Given the description of an element on the screen output the (x, y) to click on. 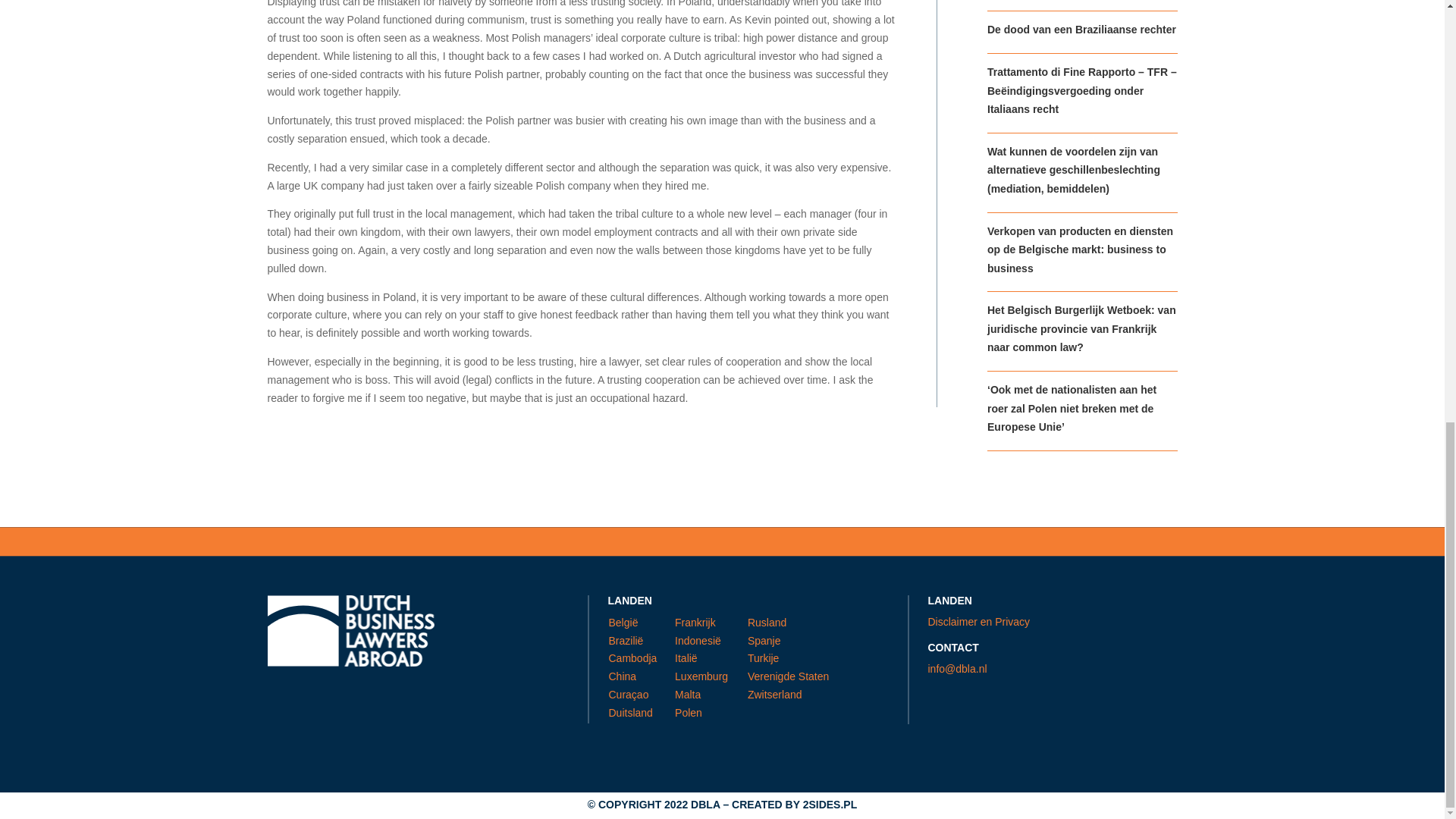
De dood van een Braziliaanse rechter (1081, 29)
